Given the description of an element on the screen output the (x, y) to click on. 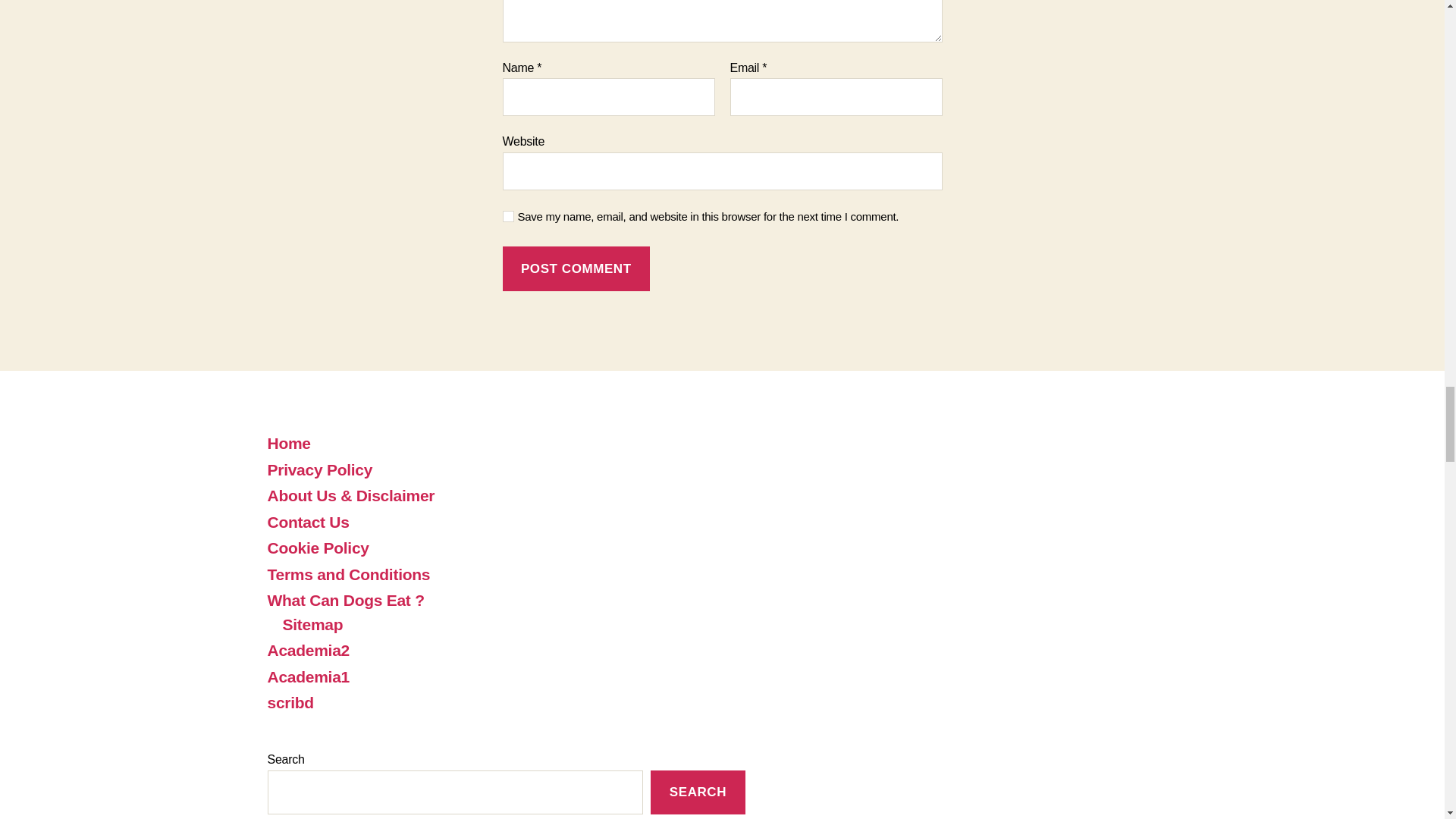
yes (507, 215)
Post Comment (575, 268)
